Given the description of an element on the screen output the (x, y) to click on. 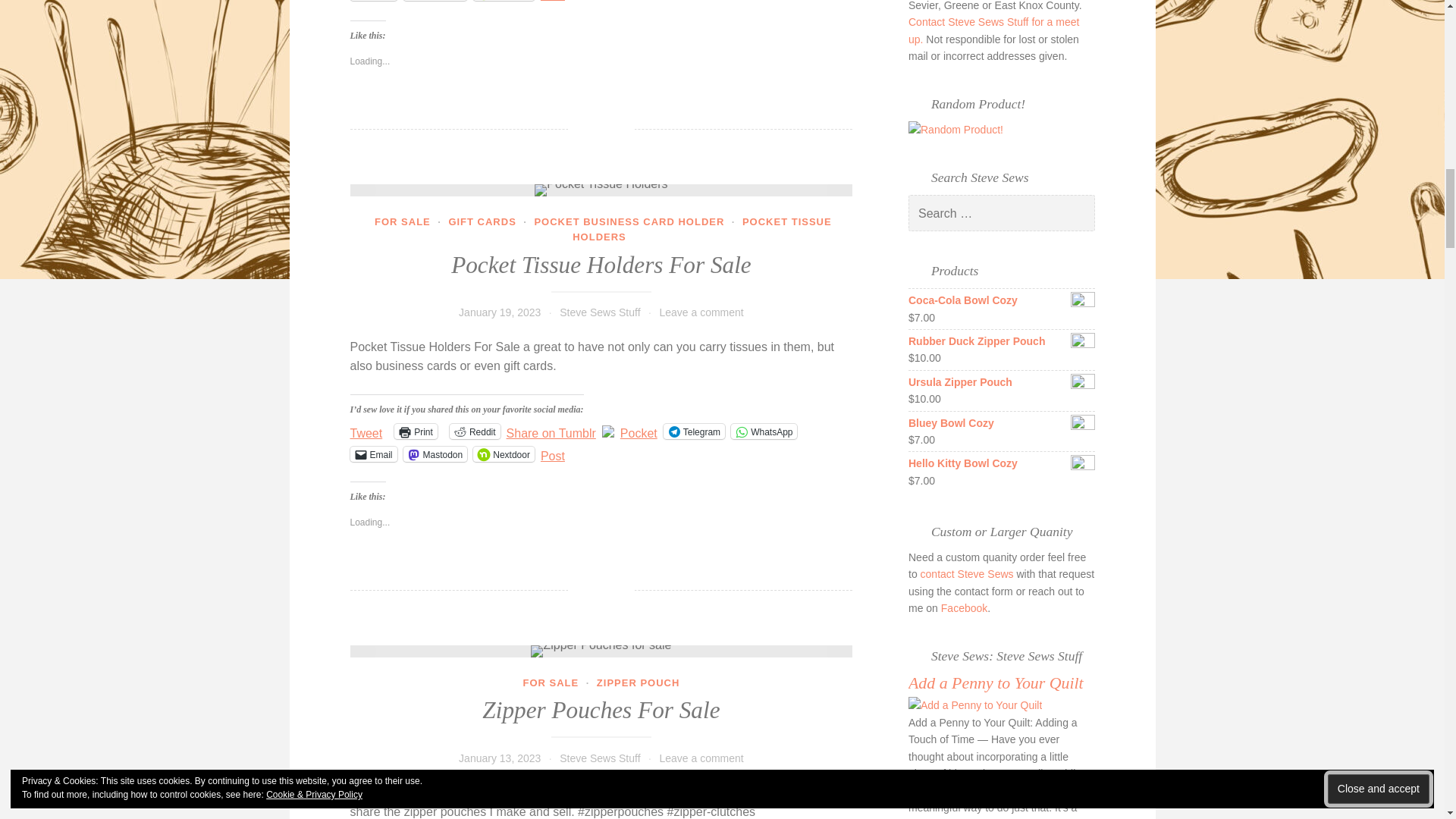
Click to share on WhatsApp (763, 431)
Click to share on Telegram (694, 431)
Click to share on Reddit (474, 431)
Pocket Tissue Holders For Sale (601, 190)
Click to share on Mastodon (435, 0)
Click to share on Nextdoor (503, 0)
Click to print (416, 431)
Click to email a link to a friend (373, 0)
Share on Tumblr (550, 430)
